Given the description of an element on the screen output the (x, y) to click on. 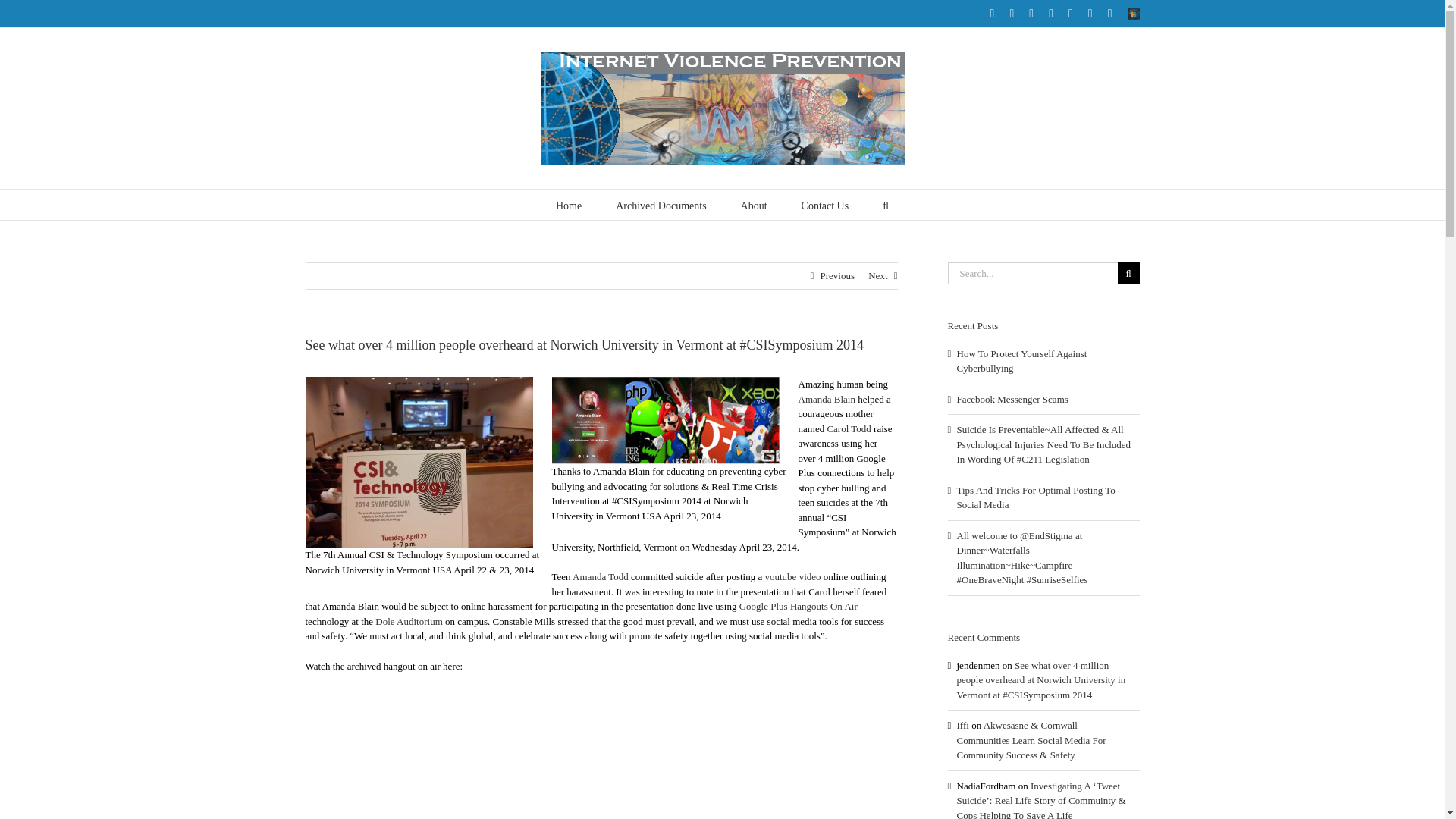
Carol Todd (848, 428)
Contact Us (825, 204)
youtube video (792, 576)
Google Plus Hangouts On Air (798, 605)
Archived Documents (660, 204)
Dole Auditorium (408, 621)
Slide Share (1132, 13)
Amanda Todd (600, 576)
Previous (836, 275)
Slide Share (1132, 13)
Amanda Blain (825, 398)
